Given the description of an element on the screen output the (x, y) to click on. 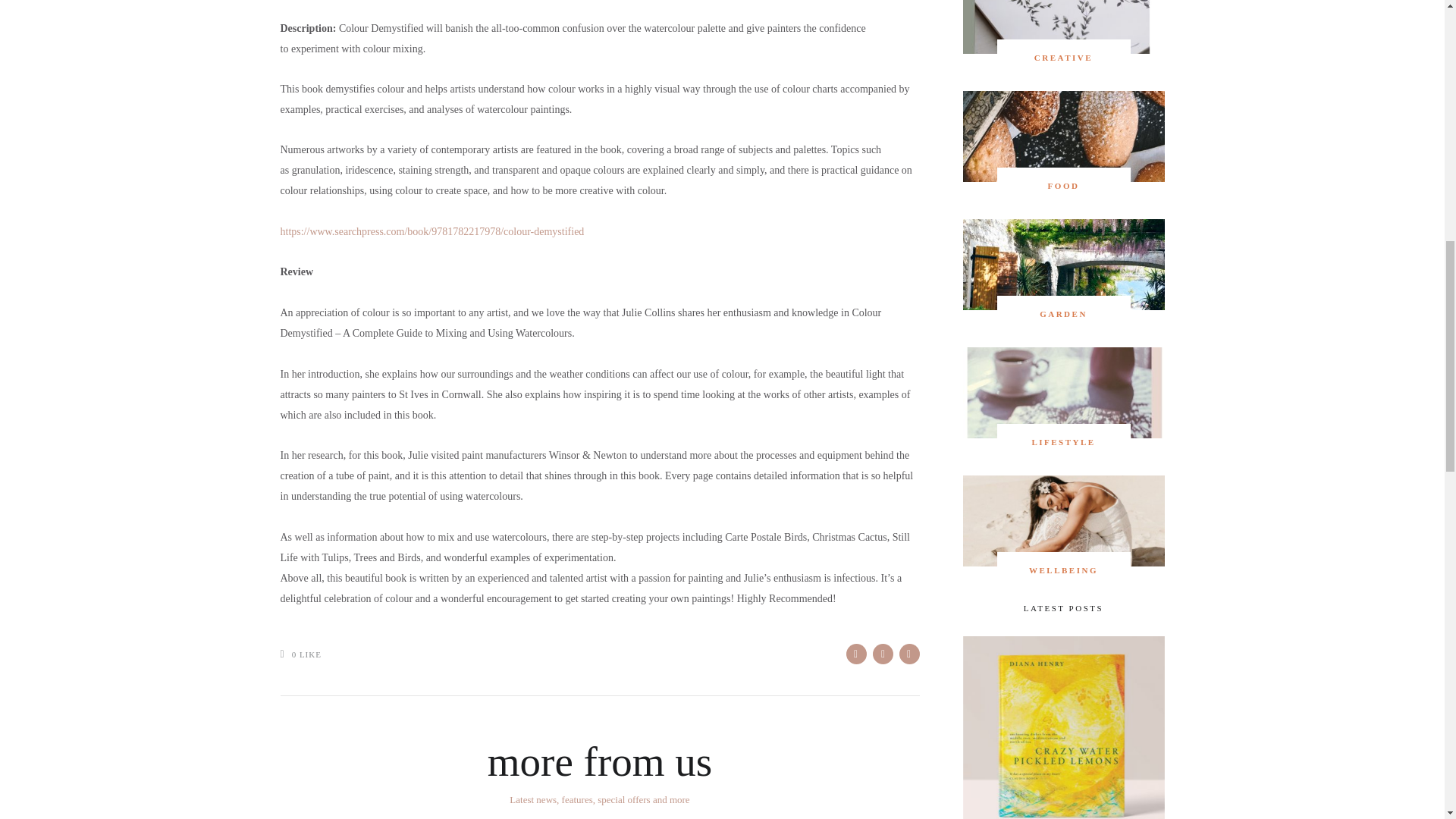
I like this (286, 654)
Share with E-Mail (909, 653)
Share to Facebook (855, 653)
Share to Pinterest (882, 653)
